Given the description of an element on the screen output the (x, y) to click on. 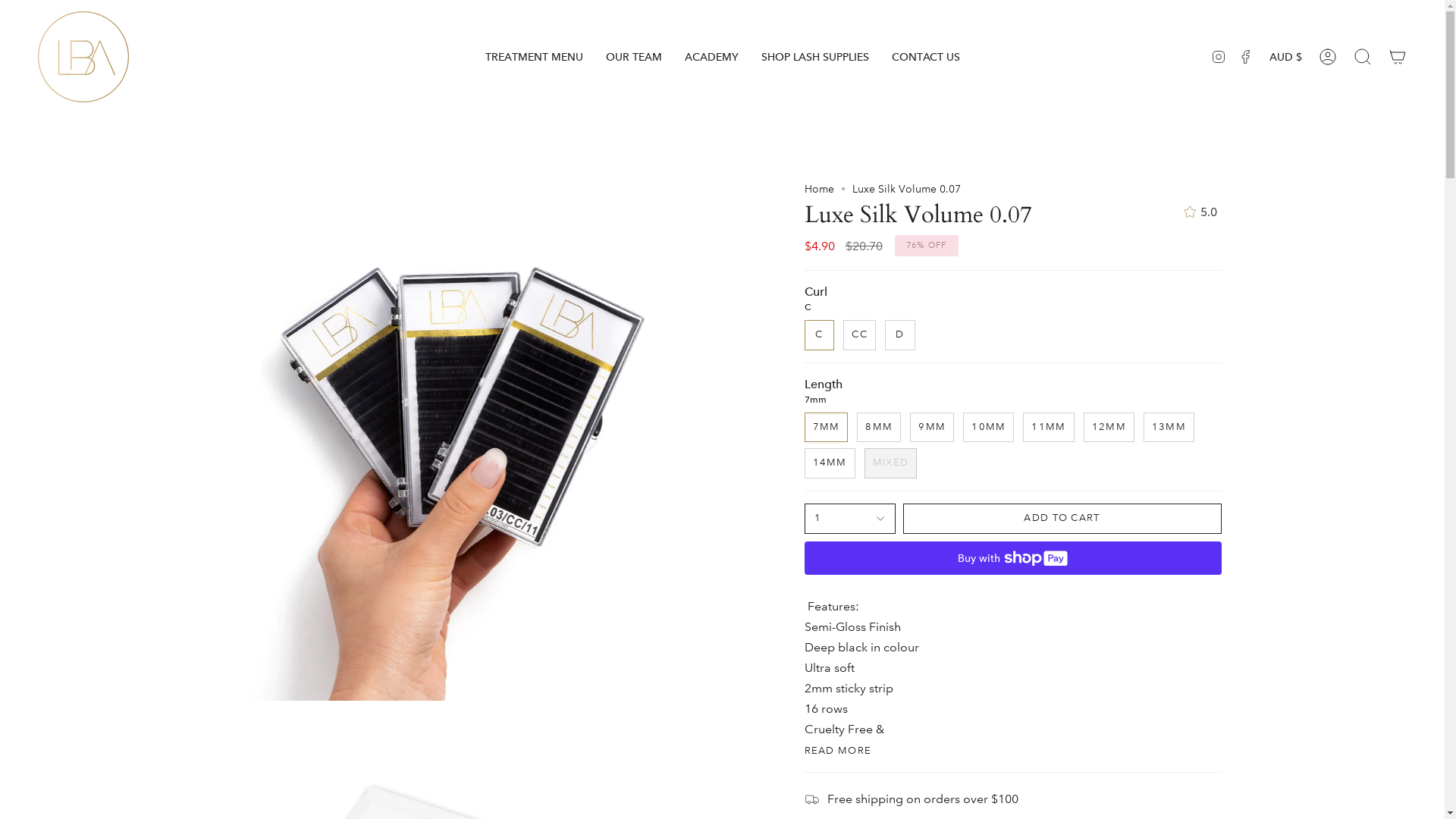
CONTACT US Element type: text (924, 56)
OUR TEAM Element type: text (633, 56)
ADD TO CART Element type: text (1061, 518)
Cart Element type: text (1397, 56)
Facebook Element type: text (1245, 56)
Home Element type: text (818, 188)
READ MORE Element type: text (837, 750)
1 Element type: text (848, 518)
Account Element type: text (1327, 56)
5.0 Element type: text (1197, 211)
TREATMENT MENU Element type: text (533, 56)
AUD $ Element type: text (1285, 56)
SHOP LASH SUPPLIES Element type: text (814, 56)
ACADEMY Element type: text (711, 56)
Instagram Element type: text (1218, 56)
